Given the description of an element on the screen output the (x, y) to click on. 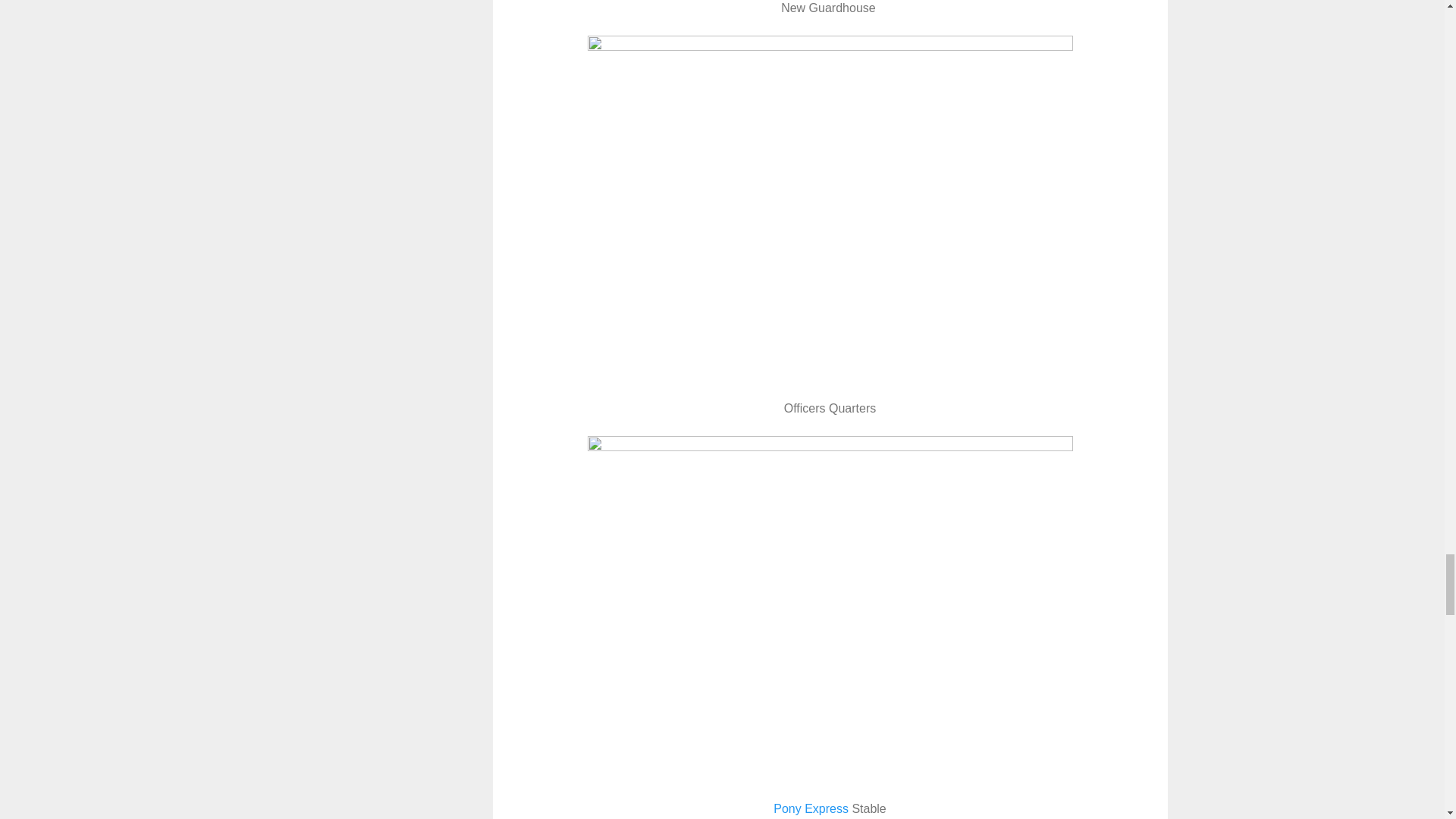
Pony Express (810, 808)
